Given the description of an element on the screen output the (x, y) to click on. 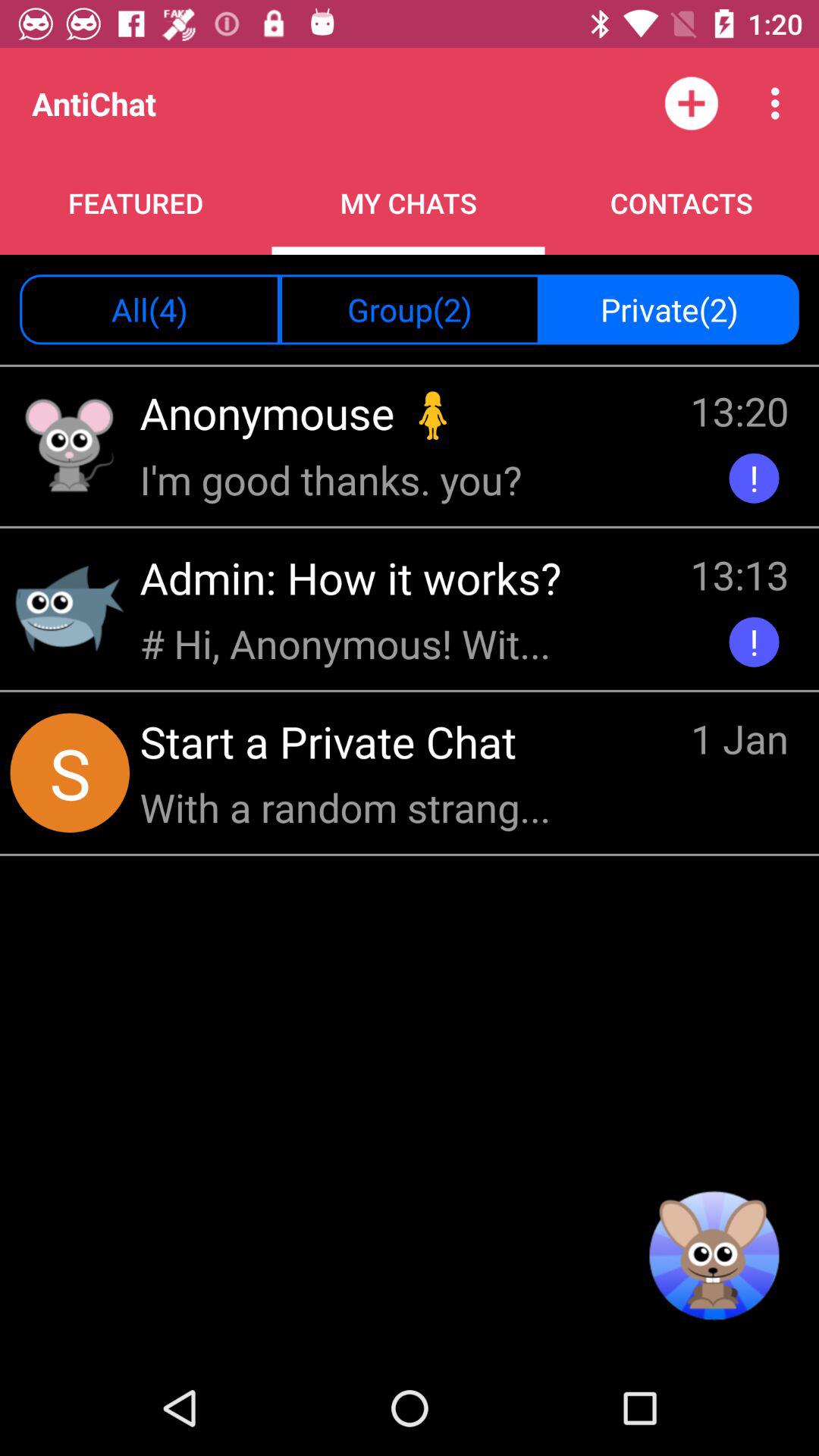
launch the icon next to the group(2) item (149, 309)
